Given the description of an element on the screen output the (x, y) to click on. 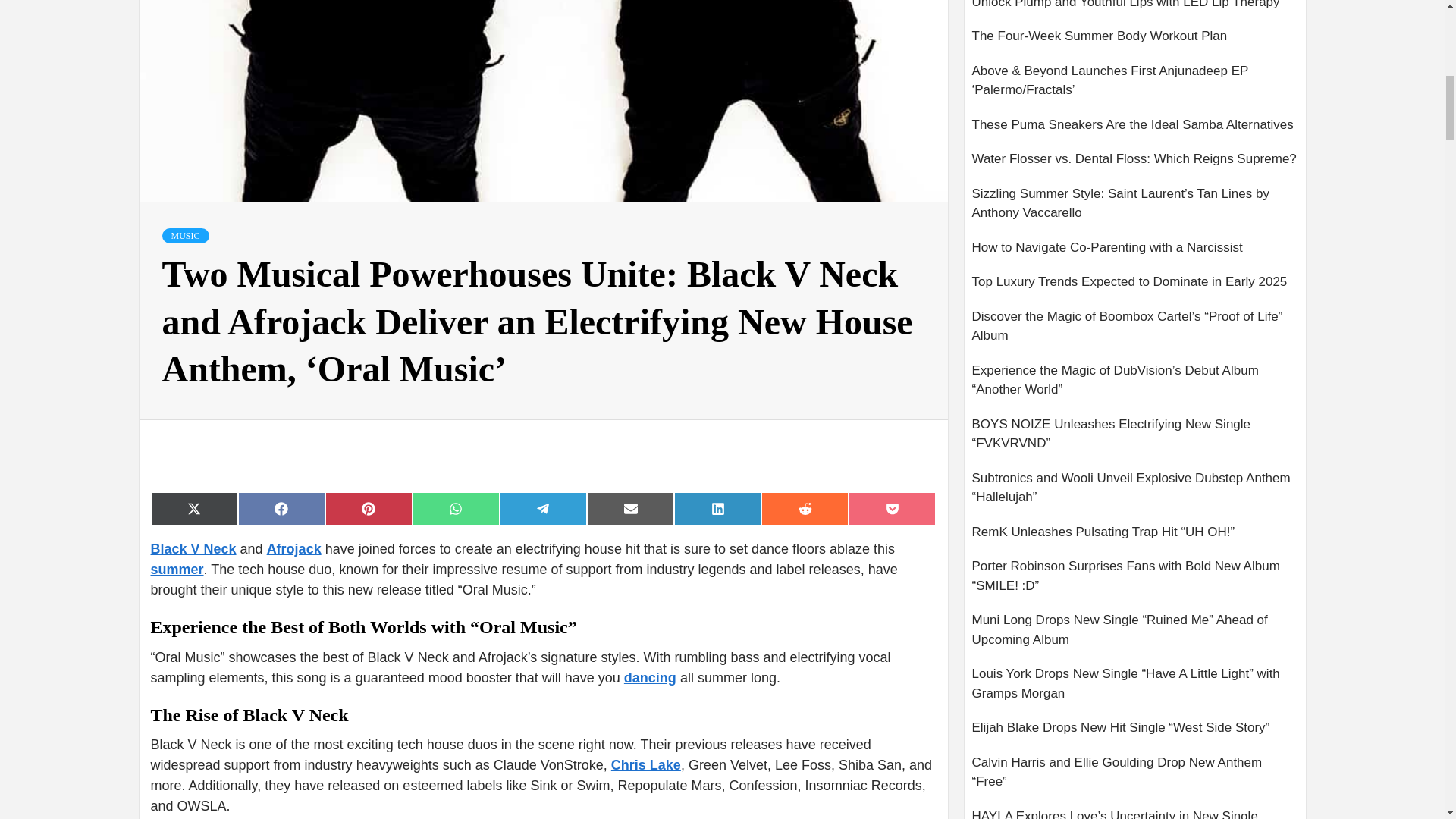
Afrojack (293, 548)
Share on Email (630, 508)
Share on Pocket (892, 508)
Share on Pinterest (368, 508)
Share on LinkedIn (717, 508)
Chris Lake (646, 765)
Black V Neck (192, 548)
Share on Facebook (281, 508)
Share on WhatsApp (455, 508)
summer (176, 569)
dancing (650, 677)
MUSIC (185, 235)
Share on Telegram (542, 508)
Share on Reddit (804, 508)
